Given the description of an element on the screen output the (x, y) to click on. 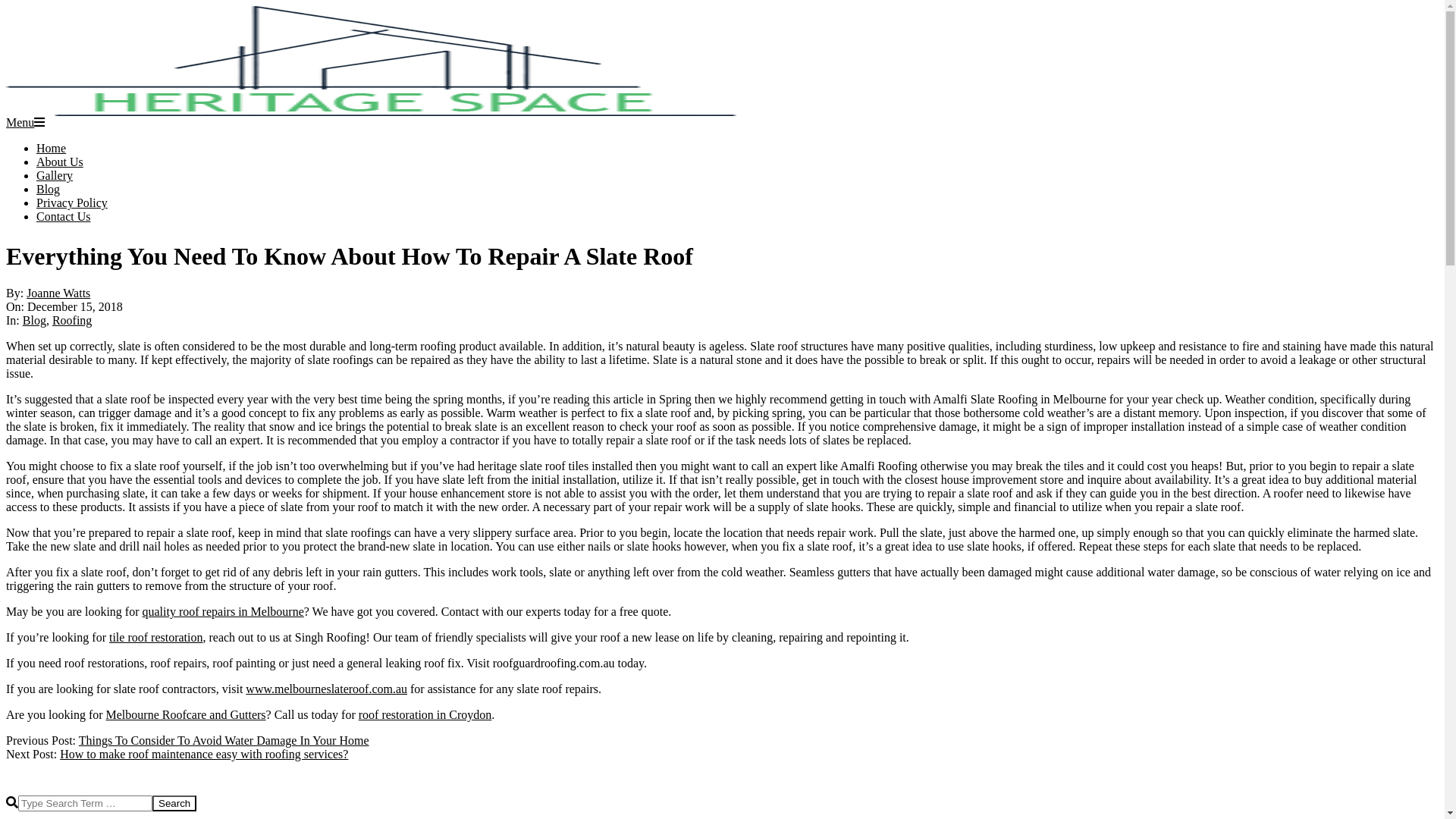
Gallery Element type: text (54, 175)
Joanne Watts Element type: text (58, 292)
Menu Element type: text (25, 122)
Privacy Policy Element type: text (71, 202)
tile roof restoration Element type: text (156, 636)
Roofing Element type: text (71, 319)
Things To Consider To Avoid Water Damage In Your Home Element type: text (223, 740)
Home Element type: text (50, 147)
Skip to content Element type: text (5, 5)
Contact Us Element type: text (63, 216)
Blog Element type: text (47, 188)
About Us Element type: text (59, 161)
How to make roof maintenance easy with roofing services? Element type: text (203, 753)
Melbourne Roofcare and Gutters Element type: text (186, 714)
roof restoration in Croydon Element type: text (425, 714)
quality roof repairs in Melbourne Element type: text (223, 611)
www.melbourneslateroof.com.au Element type: text (326, 688)
Blog Element type: text (34, 319)
Search Element type: text (174, 803)
